Given the description of an element on the screen output the (x, y) to click on. 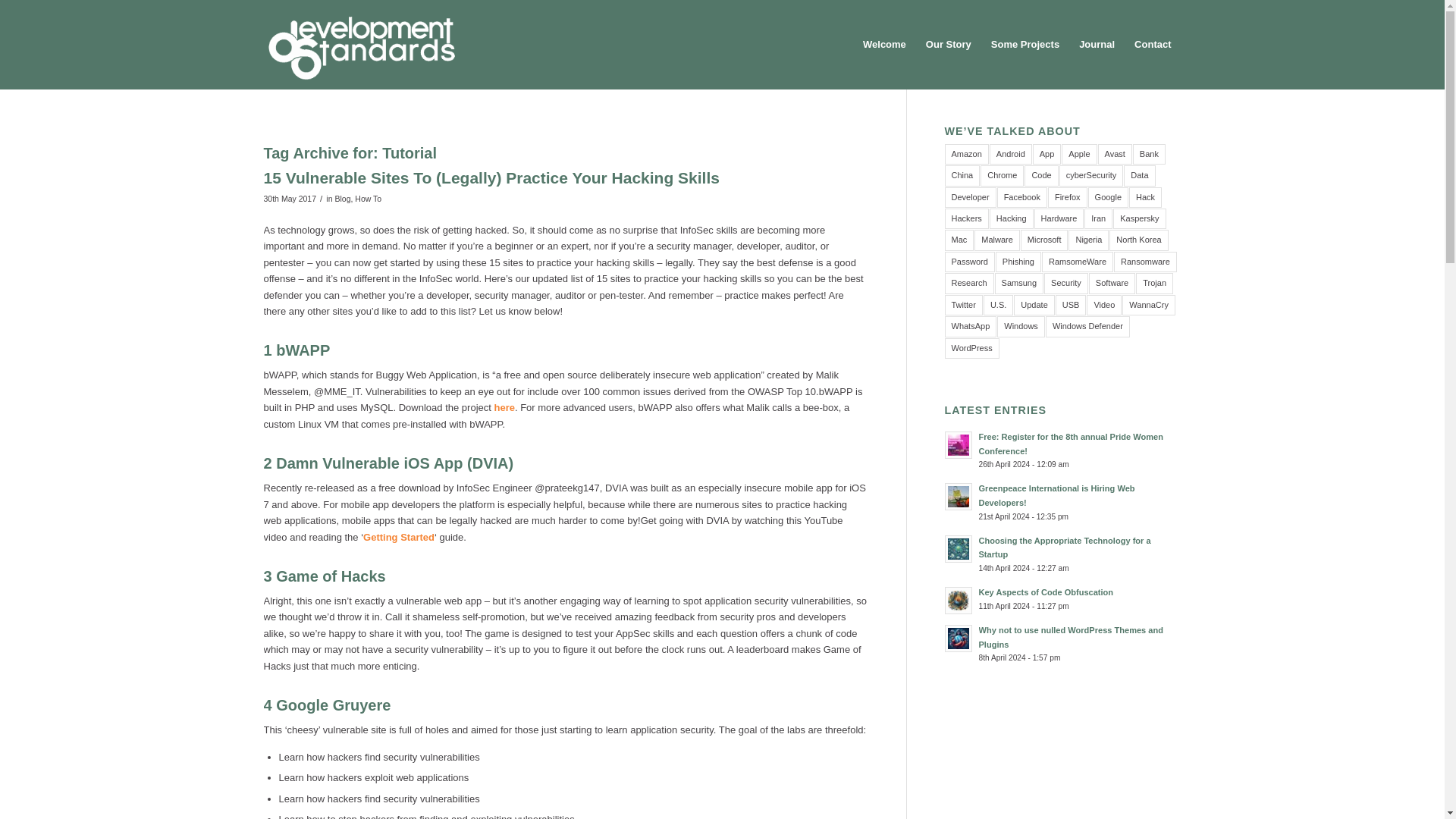
Read: Key Aspects of Code Obfuscation (958, 600)
Game of Hacks (330, 576)
Blog (342, 198)
Google Gruyere (333, 704)
Our Story (948, 44)
bWAPP (303, 350)
How To (368, 198)
Getting Started (397, 536)
Read: Choosing the Appropriate Technology for a Startup (1064, 546)
Read: Key Aspects of Code Obfuscation (1045, 592)
Journal (1096, 44)
Welcome (884, 44)
Read: Greenpeace International is Hiring Web Developers! (1056, 495)
